Given the description of an element on the screen output the (x, y) to click on. 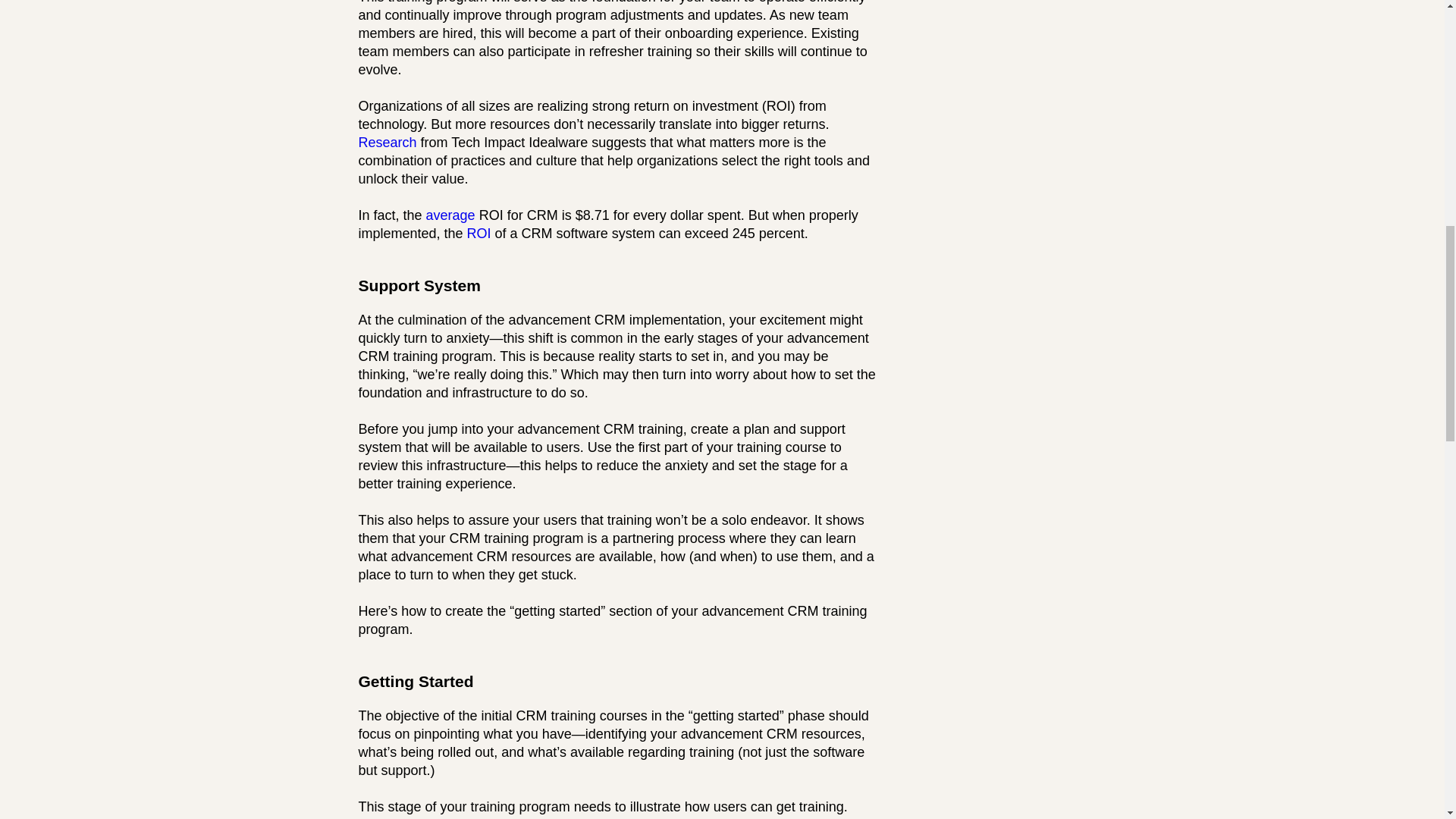
Research (387, 142)
ROI (479, 233)
average (451, 215)
